Given the description of an element on the screen output the (x, y) to click on. 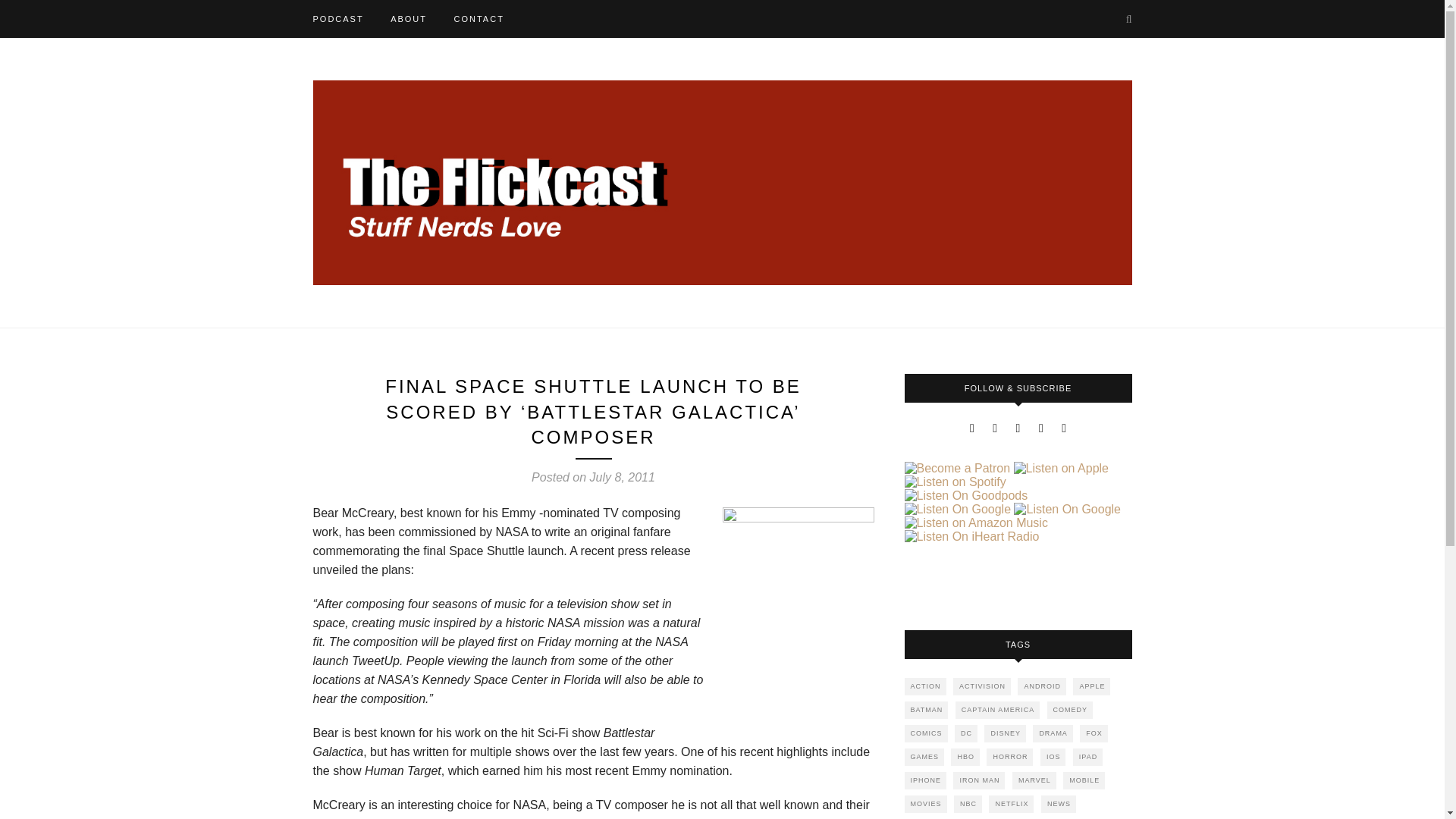
PODCAST (337, 18)
ABOUT (408, 18)
CONTACT (477, 18)
ACTION (924, 686)
ACTIVISION (981, 686)
BATMAN (925, 710)
ANDROID (1041, 686)
APPLE (1091, 686)
